Given the description of an element on the screen output the (x, y) to click on. 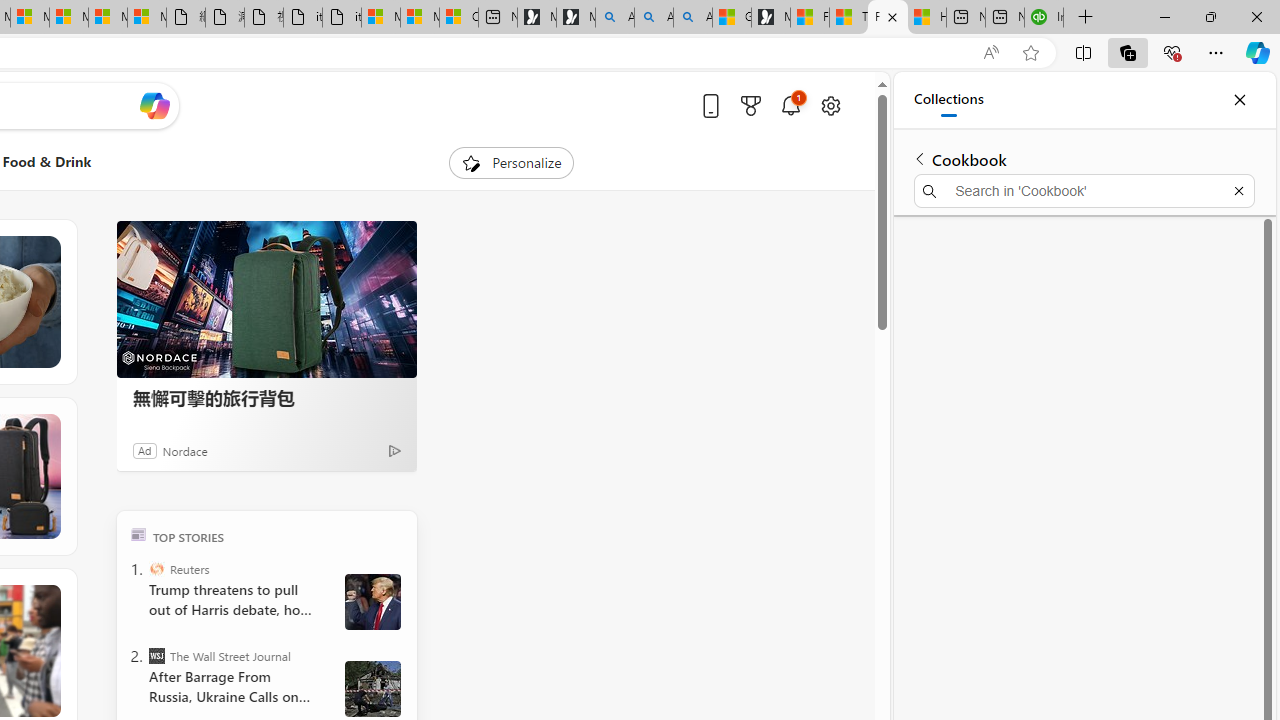
How to Use a TV as a Computer Monitor (926, 17)
Microsoft account | Privacy (419, 17)
Microsoft Start Gaming (770, 17)
Ad (145, 450)
Close (1239, 99)
Split screen (1083, 52)
Close tab (892, 16)
Alabama high school quarterback dies - Search (614, 17)
Open Copilot (155, 105)
Food & Drink (47, 162)
Restore (1210, 16)
